Given the description of an element on the screen output the (x, y) to click on. 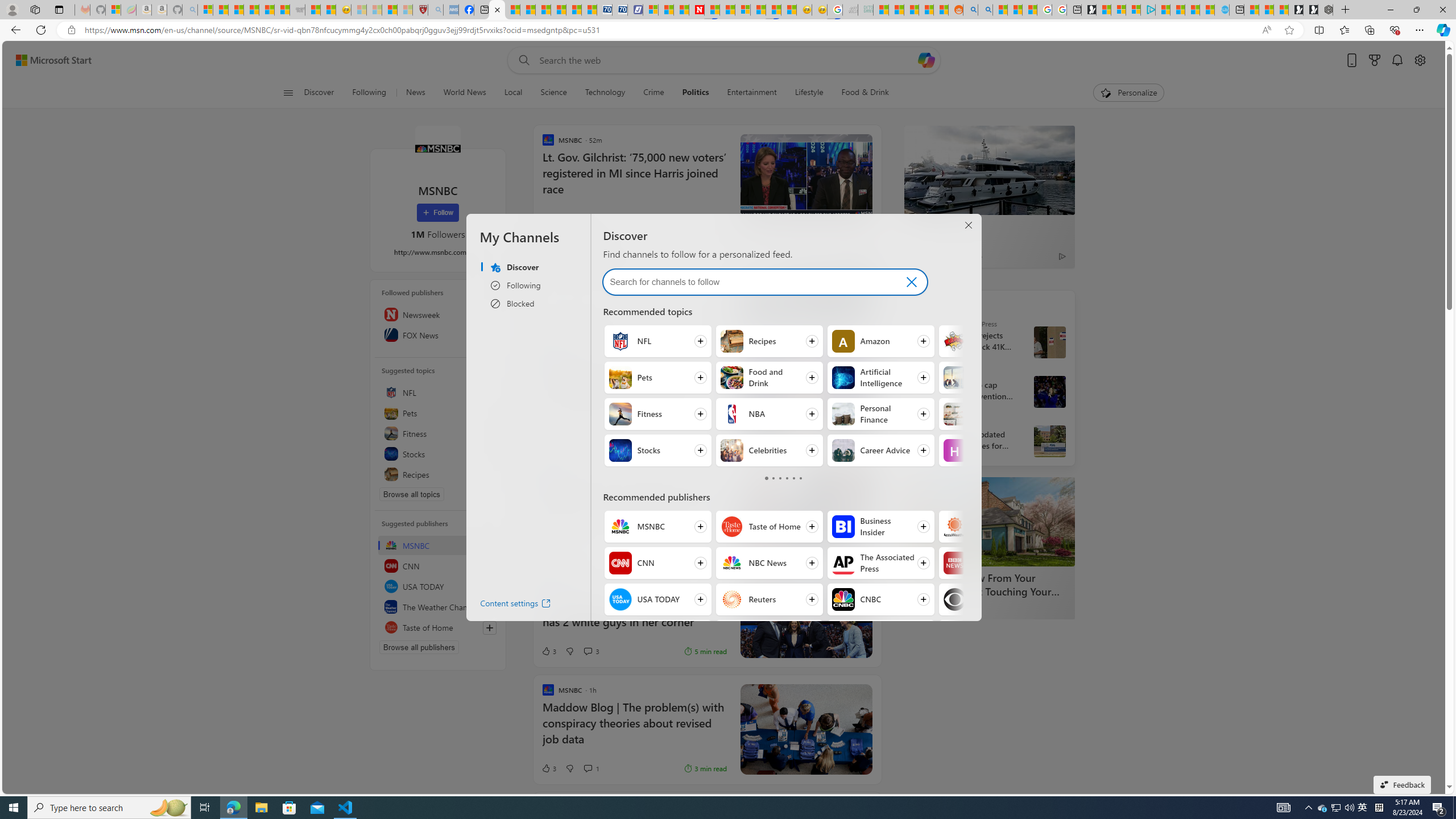
Content settings (505, 605)
11 Like (549, 218)
Fitness (437, 433)
Nordace - Nordace Siena Is Not An Ordinary Backpack (1325, 9)
News (414, 92)
Class: hero-image (805, 511)
The Associated Press (927, 323)
AccuWeather (954, 526)
Personalize (1128, 92)
Politics (695, 92)
Notifications (1397, 60)
